Given the description of an element on the screen output the (x, y) to click on. 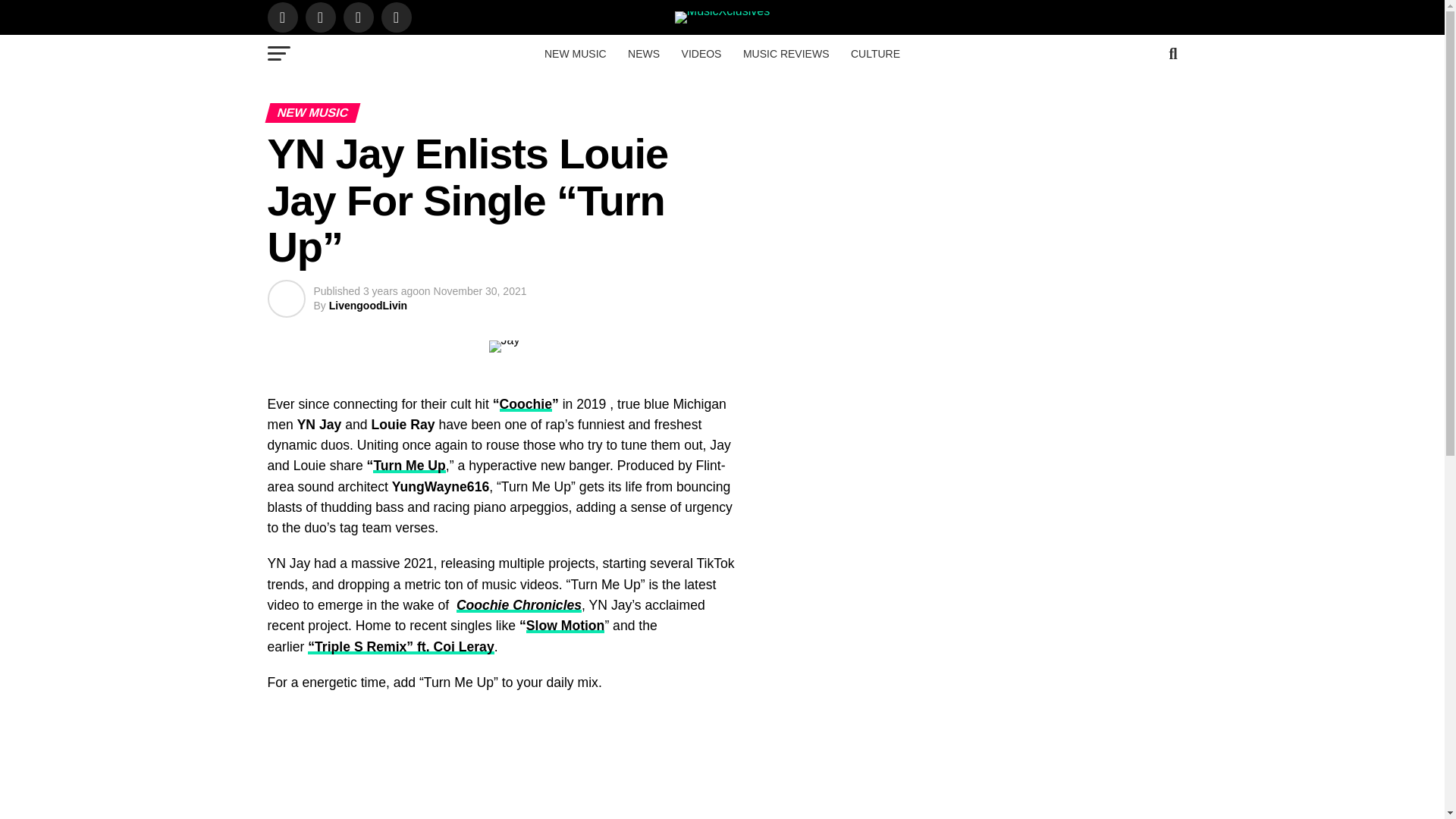
Posts by LivengoodLivin (368, 305)
MUSIC REVIEWS (785, 53)
VIDEOS (701, 53)
NEW MUSIC (575, 53)
NEWS (643, 53)
